Given the description of an element on the screen output the (x, y) to click on. 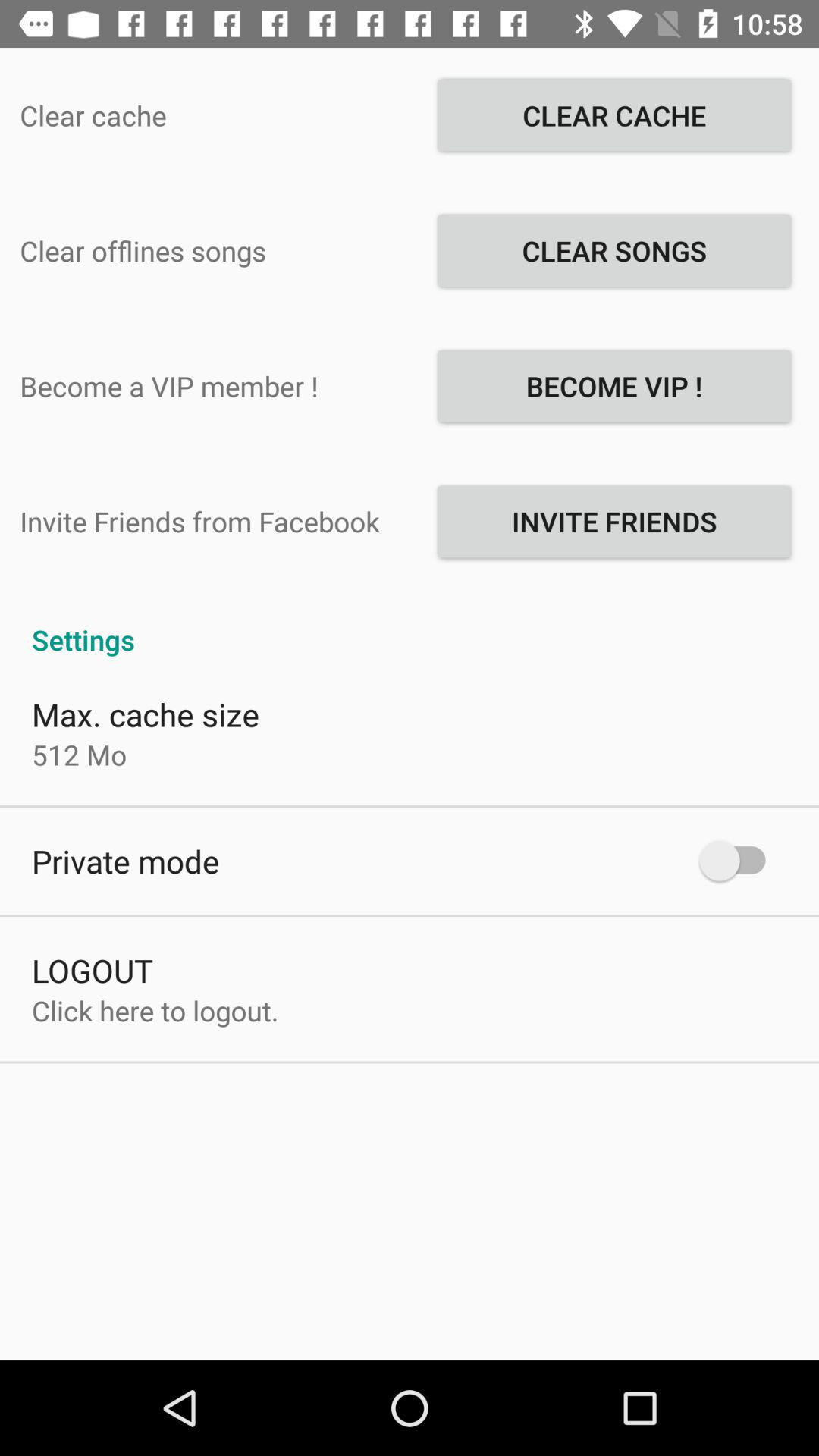
press the click here to icon (154, 1010)
